Given the description of an element on the screen output the (x, y) to click on. 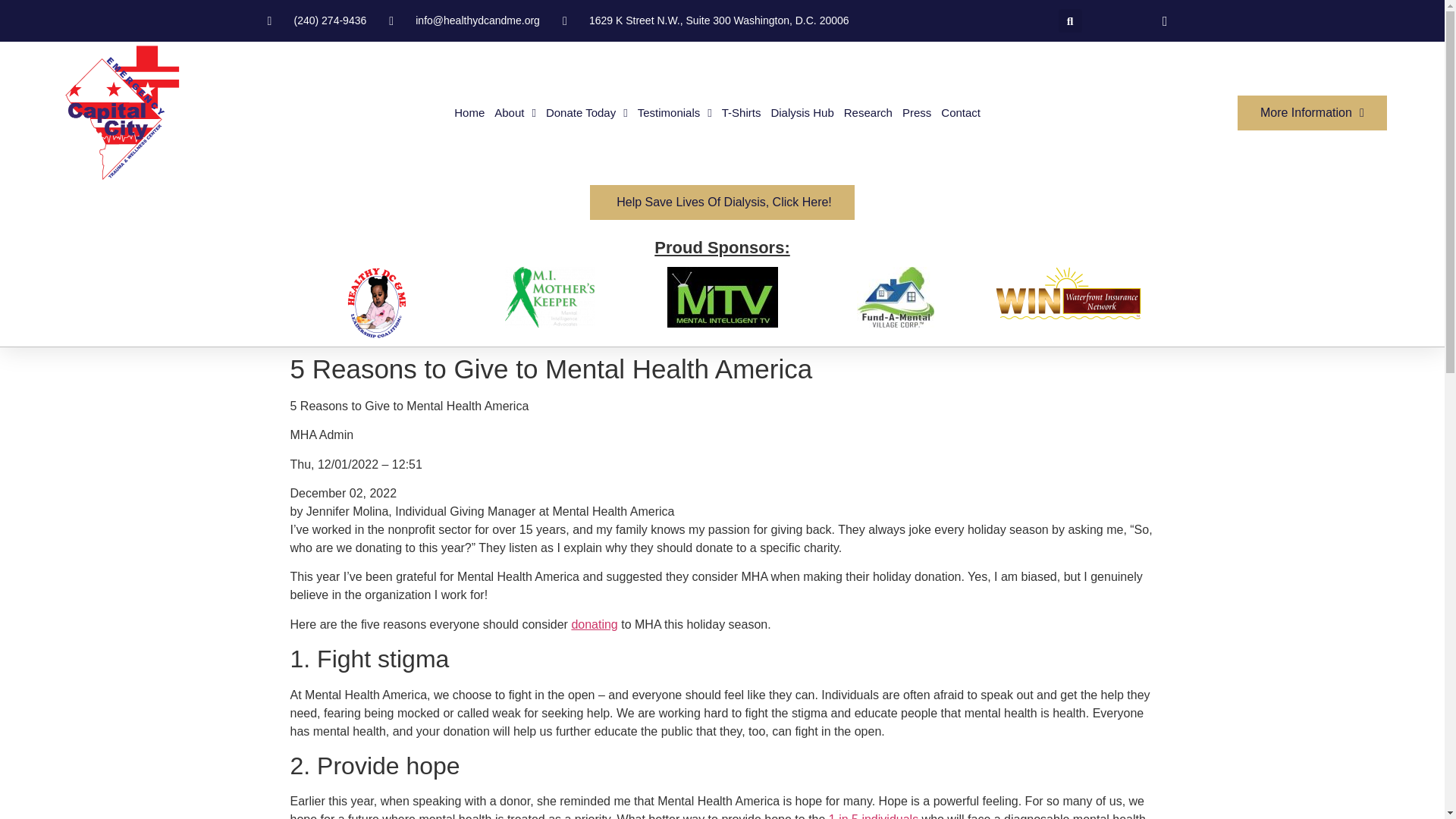
Research (868, 112)
Donate Today (586, 112)
Contact (959, 112)
T-Shirts (741, 112)
Help Save Lives Of Dialysis, Click Here! (721, 202)
Fundamental-Logo3 (895, 296)
About (515, 112)
More Information (1312, 112)
MiTV-Logo (721, 296)
Testimonials (674, 112)
